Given the description of an element on the screen output the (x, y) to click on. 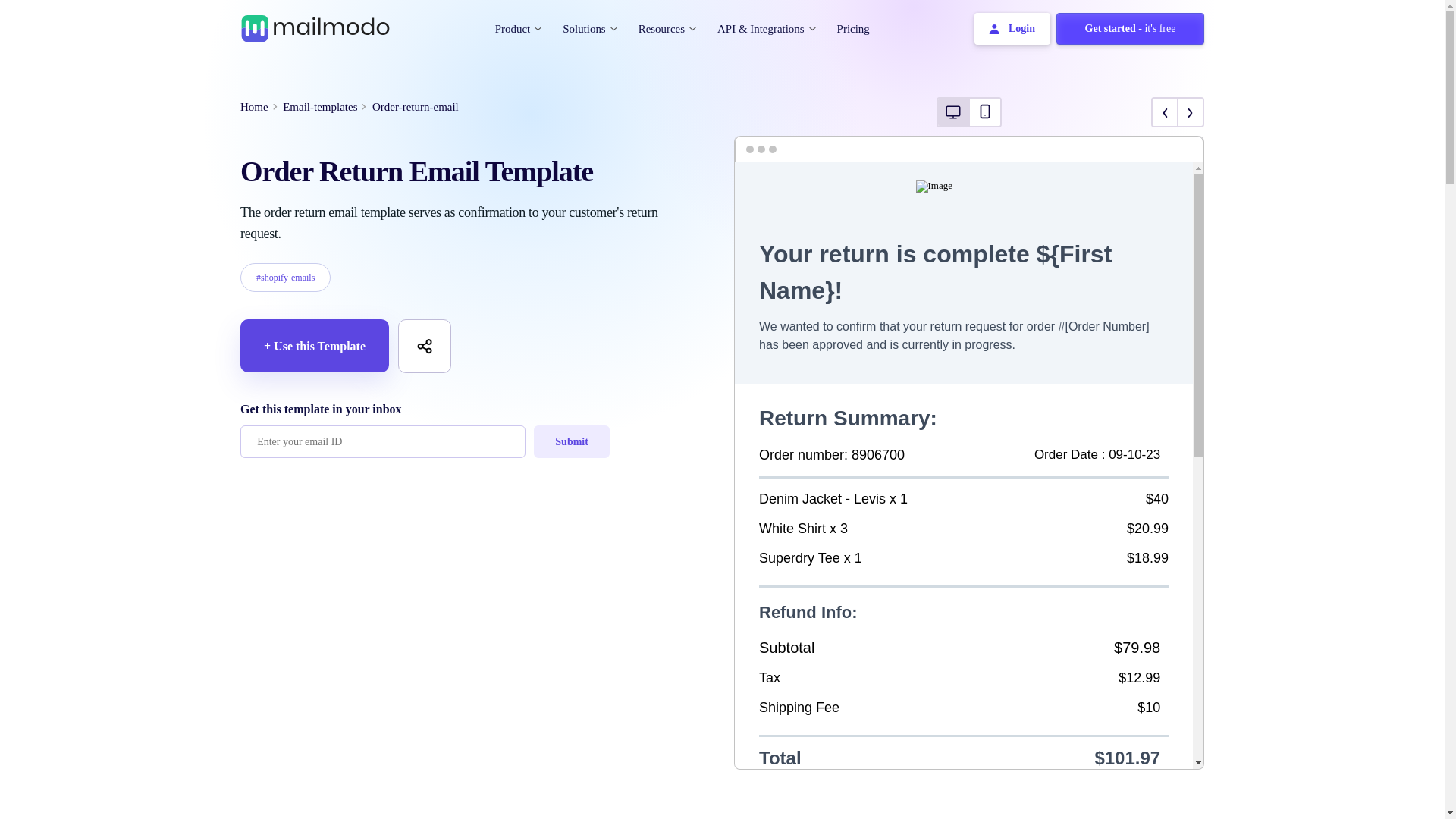
Home Page (315, 26)
chevron-down (537, 27)
chevron-down (613, 27)
header-logo (315, 28)
